Given the description of an element on the screen output the (x, y) to click on. 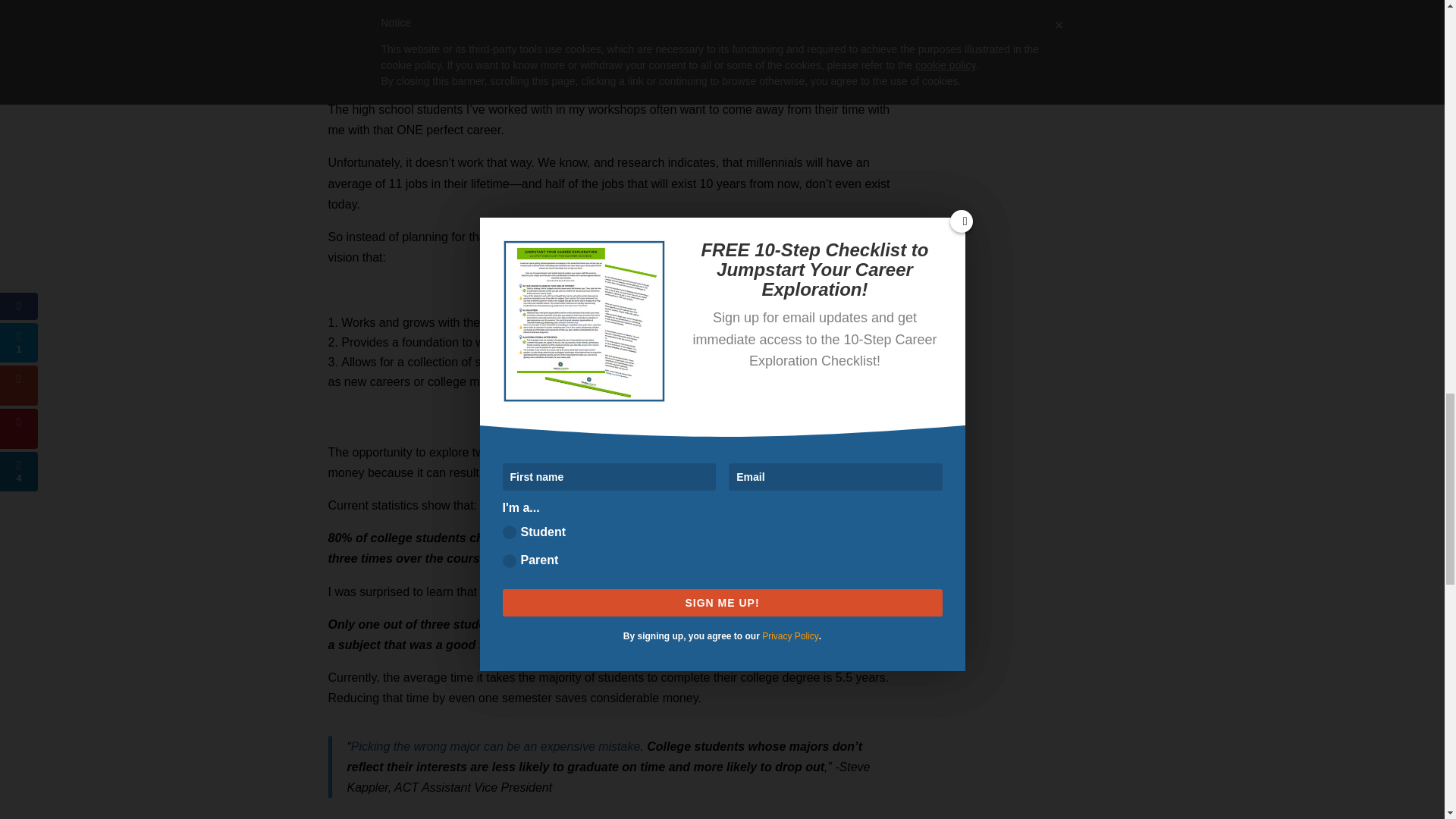
Picking the wrong major can be an expensive mistake (495, 746)
